Given the description of an element on the screen output the (x, y) to click on. 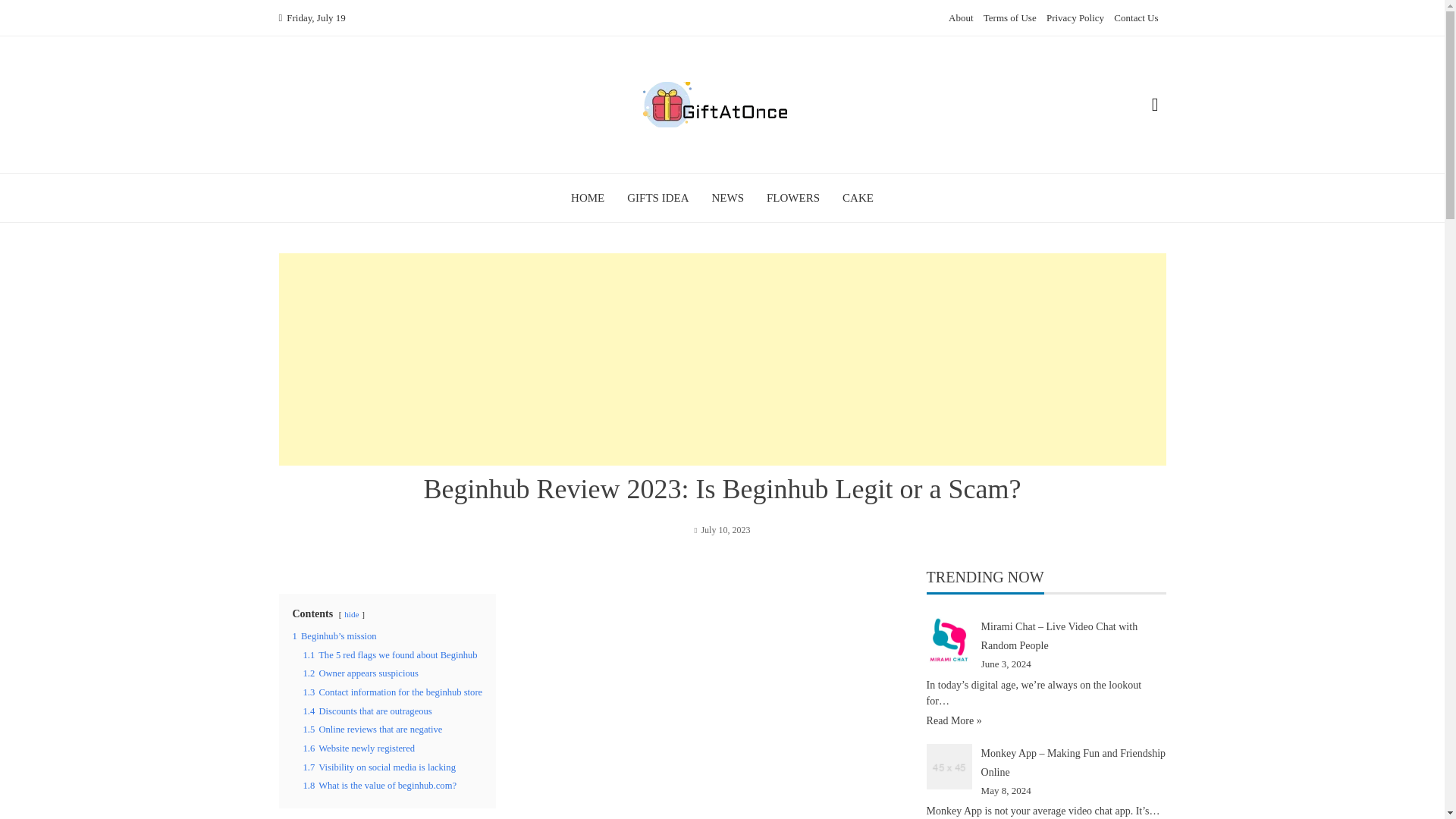
GIFTS IDEA (657, 197)
Terms of Use (1010, 17)
NEWS (727, 197)
1.1 The 5 red flags we found about Beginhub (389, 655)
1.6 Website newly registered (358, 747)
1.2 Owner appears suspicious (360, 673)
Privacy Policy (1074, 17)
About (961, 17)
1.4 Discounts that are outrageous (367, 710)
CAKE (858, 197)
FLOWERS (793, 197)
1.5 Online reviews that are negative (372, 728)
1.3 Contact information for the beginhub store (392, 692)
1.8 What is the value of beginhub.com? (379, 785)
Contact Us (1135, 17)
